Given the description of an element on the screen output the (x, y) to click on. 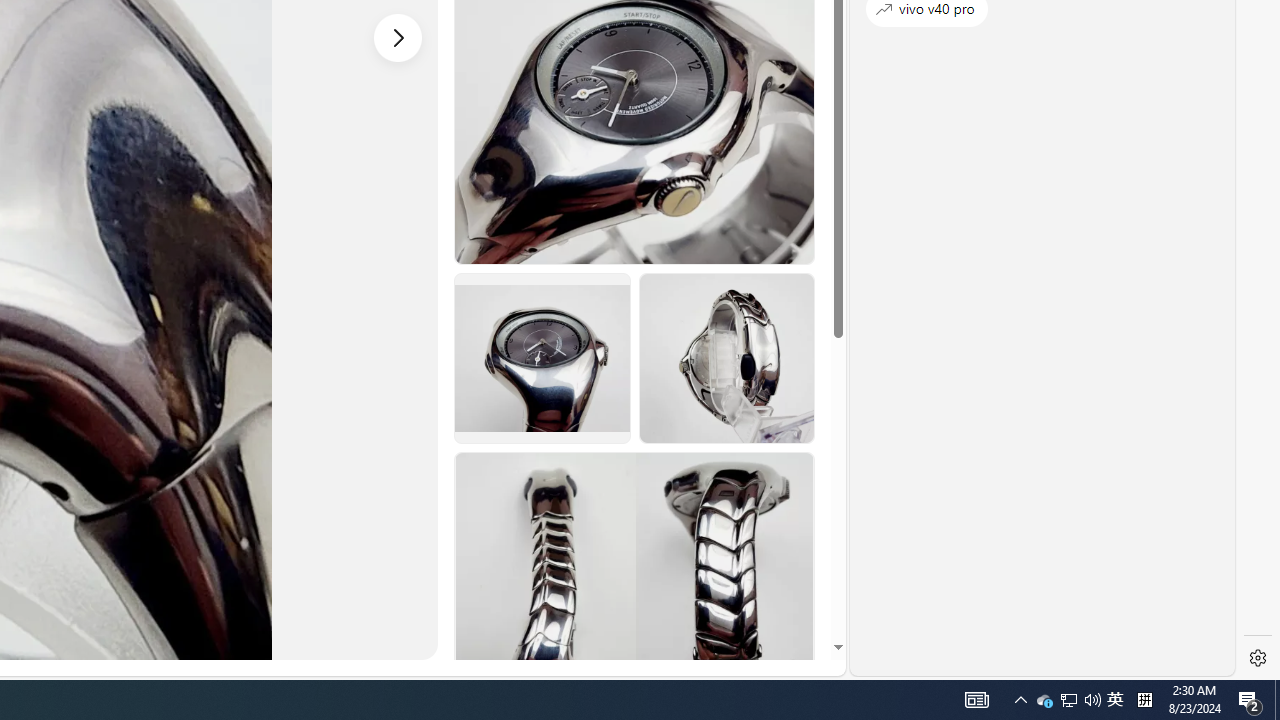
Next image - Item images thumbnails (397, 37)
